Given the description of an element on the screen output the (x, y) to click on. 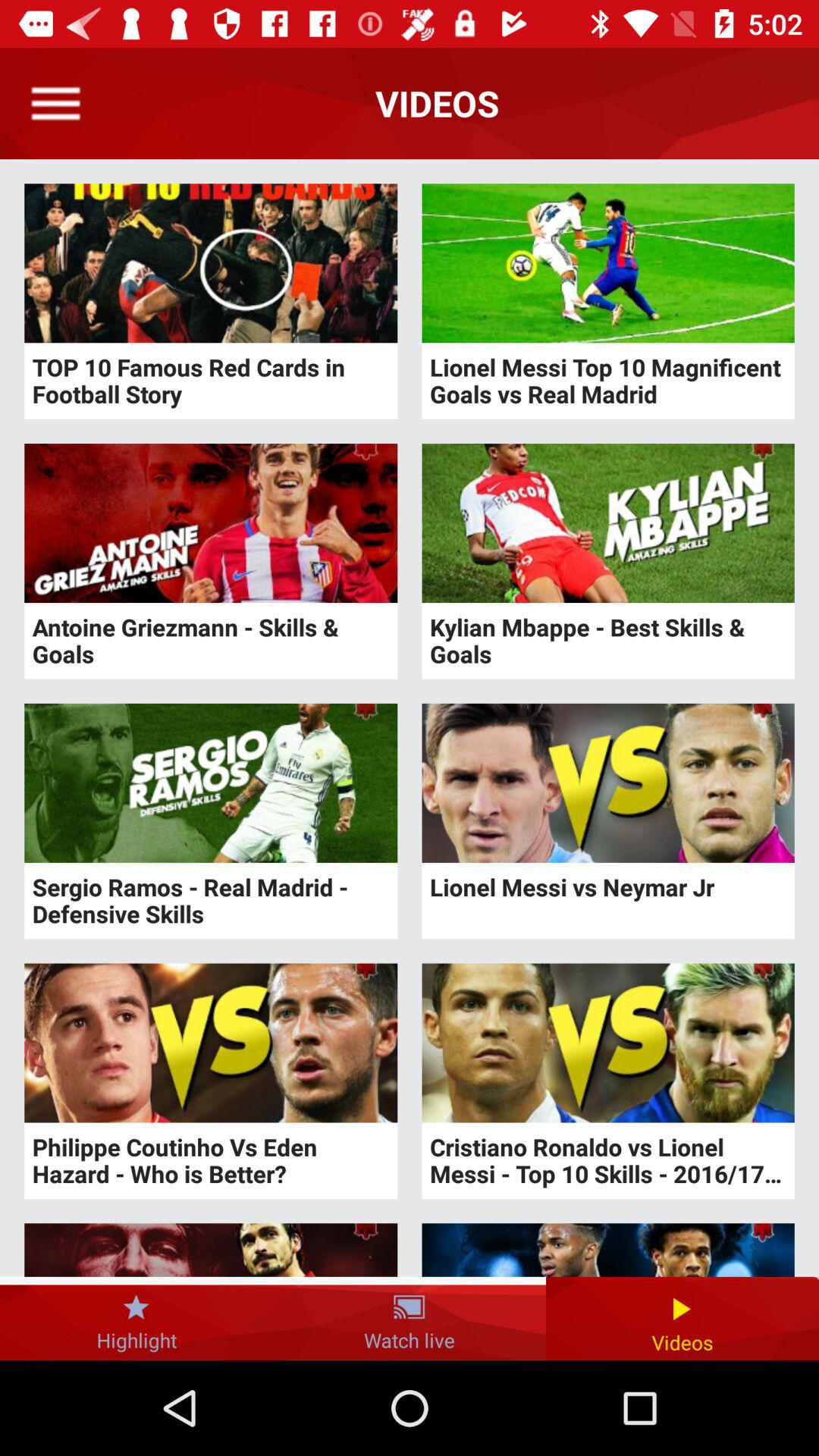
bring up popup menu (55, 103)
